Given the description of an element on the screen output the (x, y) to click on. 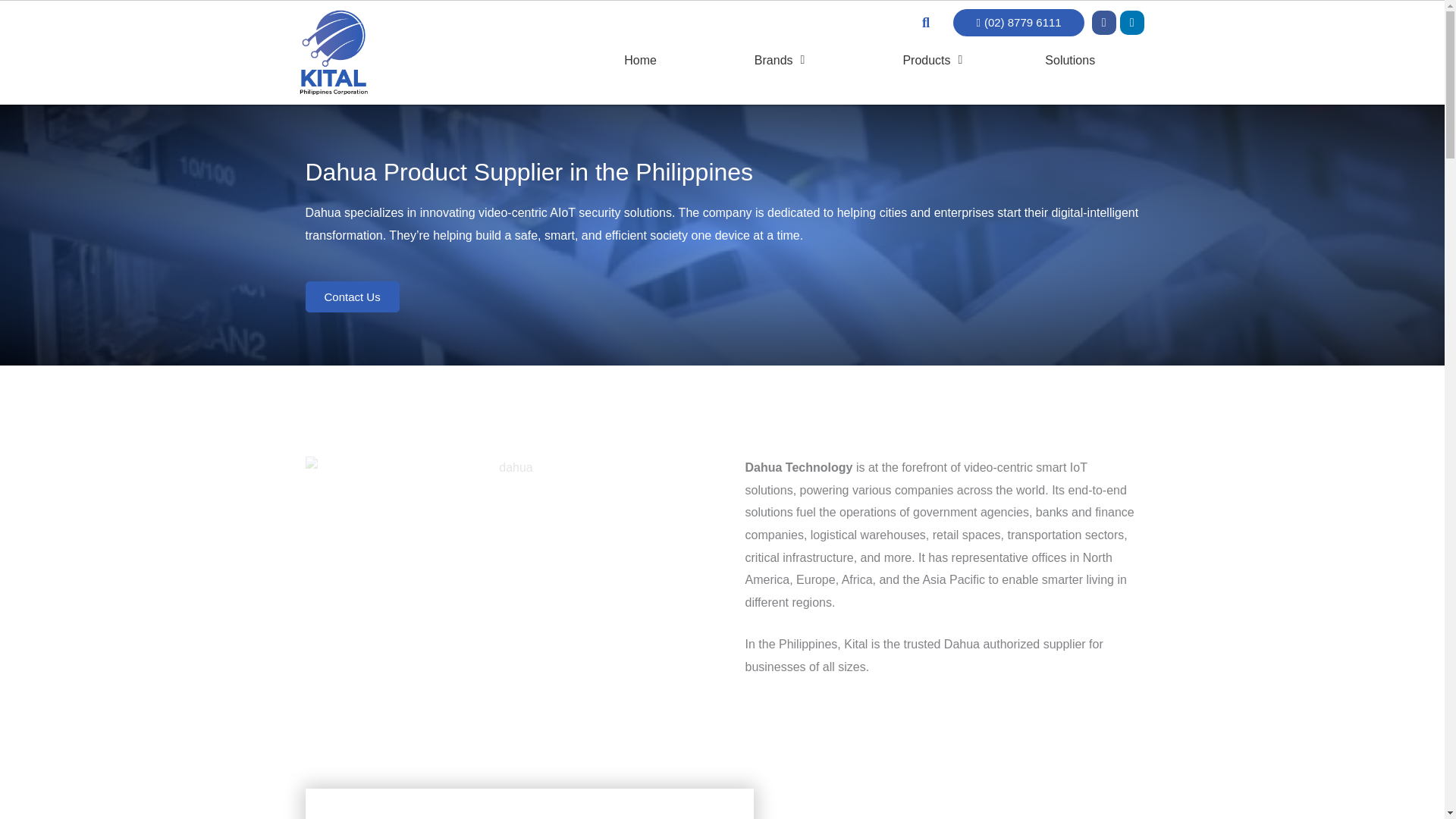
Brands (778, 60)
Linkedin (1131, 22)
Home (640, 60)
Facebook (1104, 22)
